Given the description of an element on the screen output the (x, y) to click on. 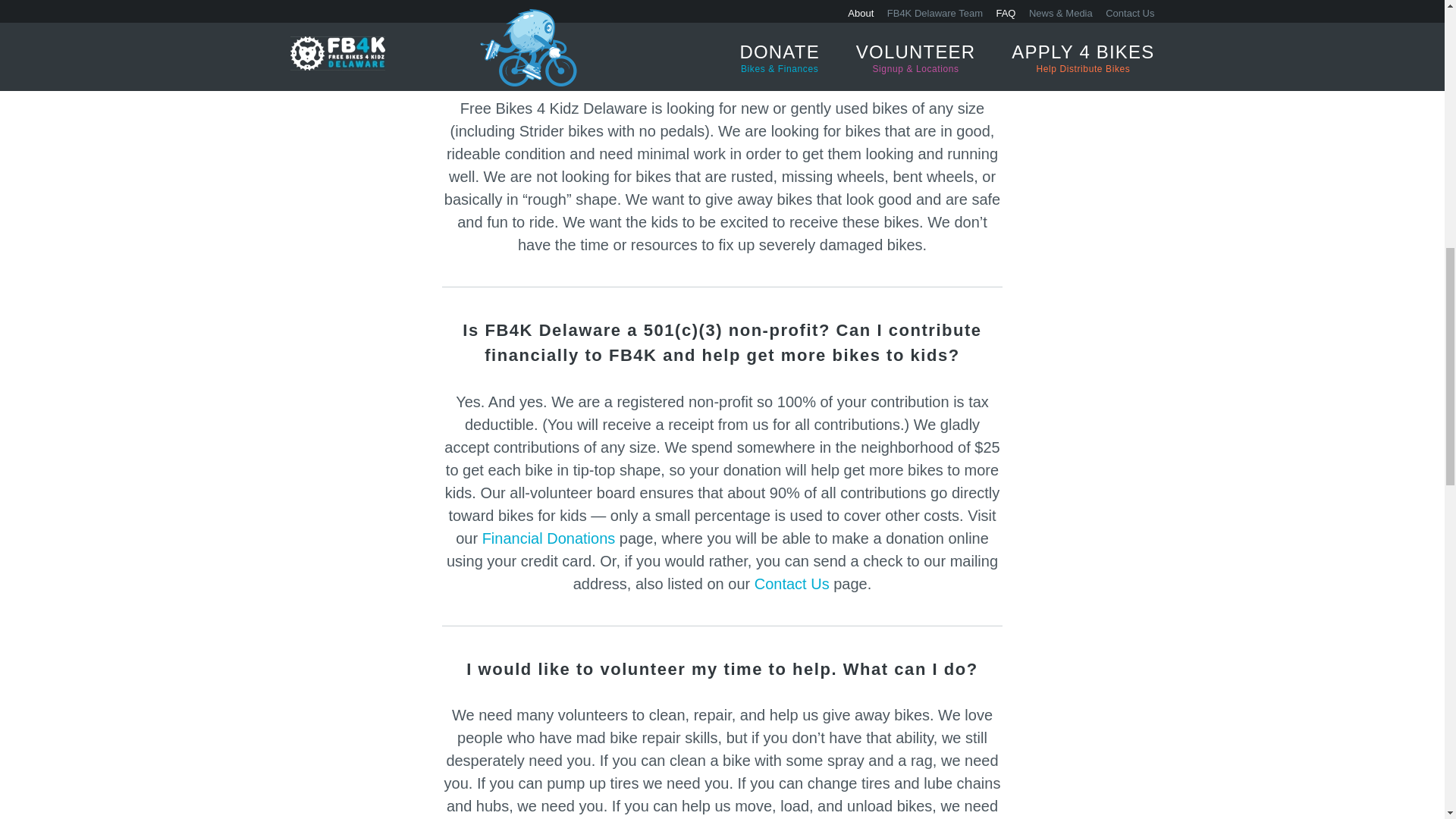
Financial Donations (548, 538)
Contact Us (791, 583)
Contact Us (791, 583)
